Given the description of an element on the screen output the (x, y) to click on. 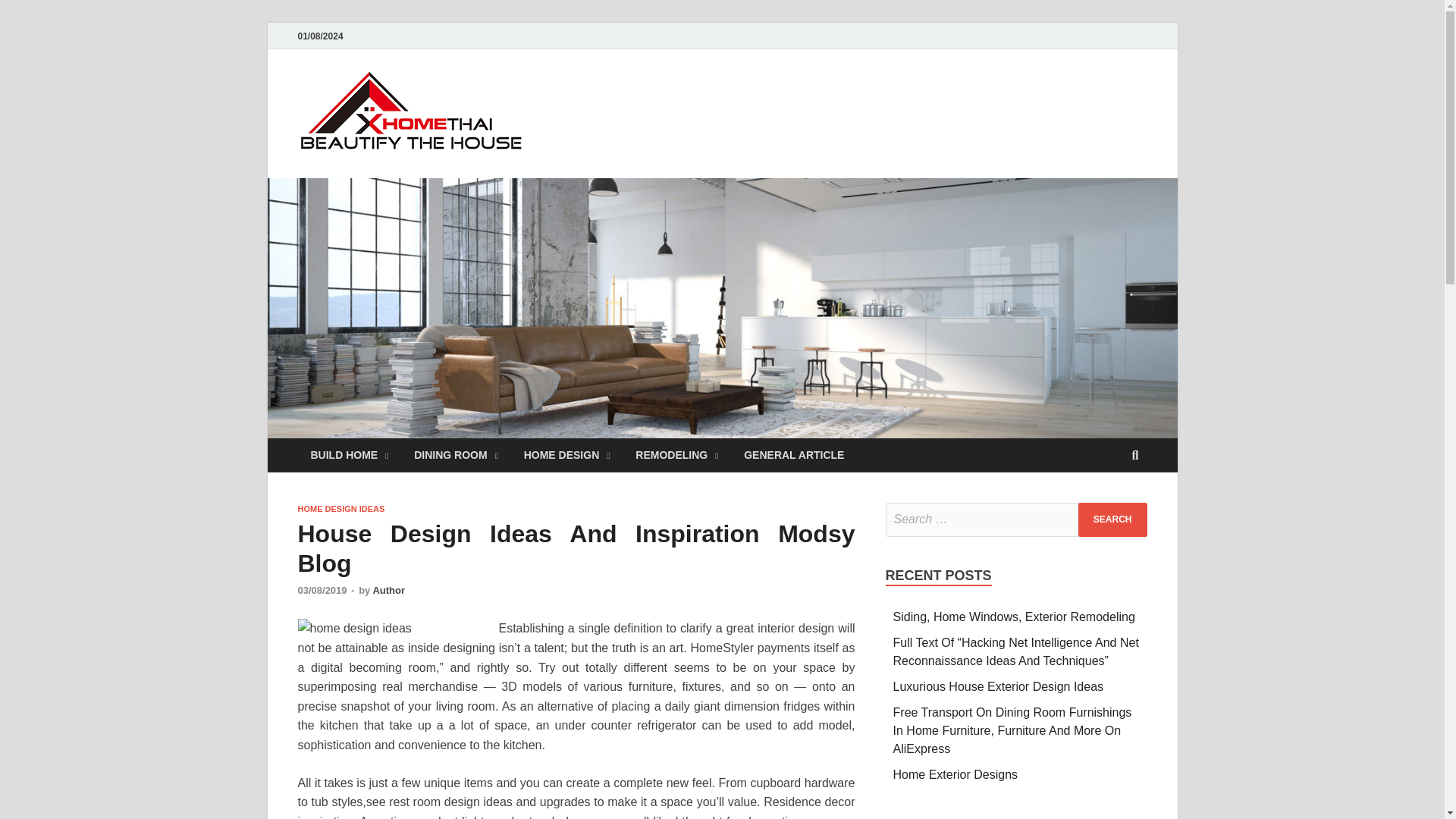
Search (1112, 519)
GENERAL ARTICLE (793, 455)
HOME DESIGN (567, 455)
BUILD HOME (349, 455)
homethai.net (621, 100)
REMODELING (676, 455)
DINING ROOM (456, 455)
Search (1112, 519)
